Given the description of an element on the screen output the (x, y) to click on. 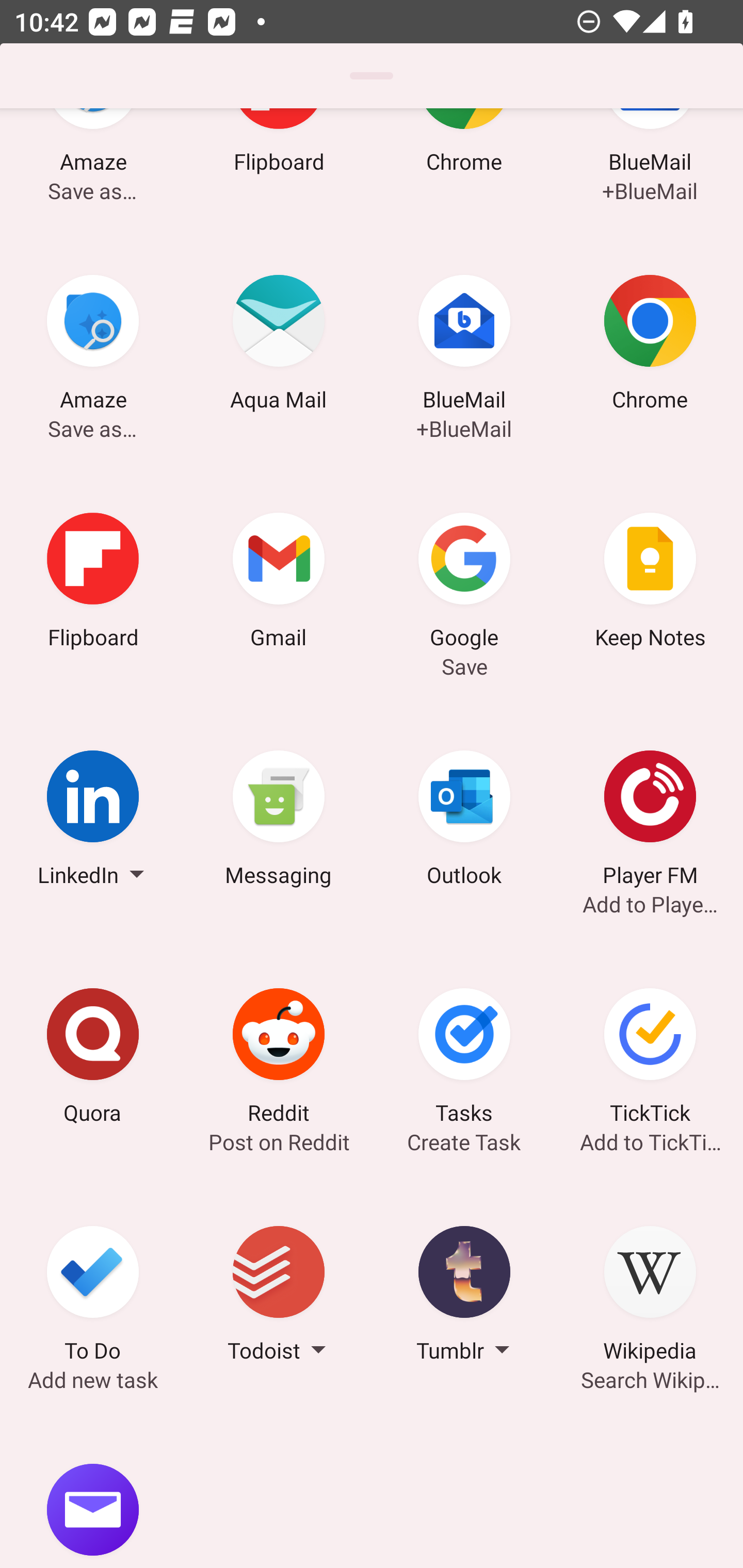
Amaze Save as… (92, 345)
Aqua Mail (278, 345)
BlueMail +BlueMail (464, 345)
Chrome (650, 345)
Flipboard (92, 583)
Gmail (278, 583)
Google Save (464, 583)
Keep Notes (650, 583)
LinkedIn (92, 821)
Messaging (278, 821)
Outlook (464, 821)
Player FM Add to Player FM (650, 821)
Quora (92, 1058)
Reddit Post on Reddit (278, 1058)
Tasks Create Task (464, 1058)
TickTick Add to TickTick (650, 1058)
To Do Add new task (92, 1296)
Todoist (278, 1296)
Tumblr (464, 1296)
Wikipedia Search Wikipedia (650, 1296)
